Given the description of an element on the screen output the (x, y) to click on. 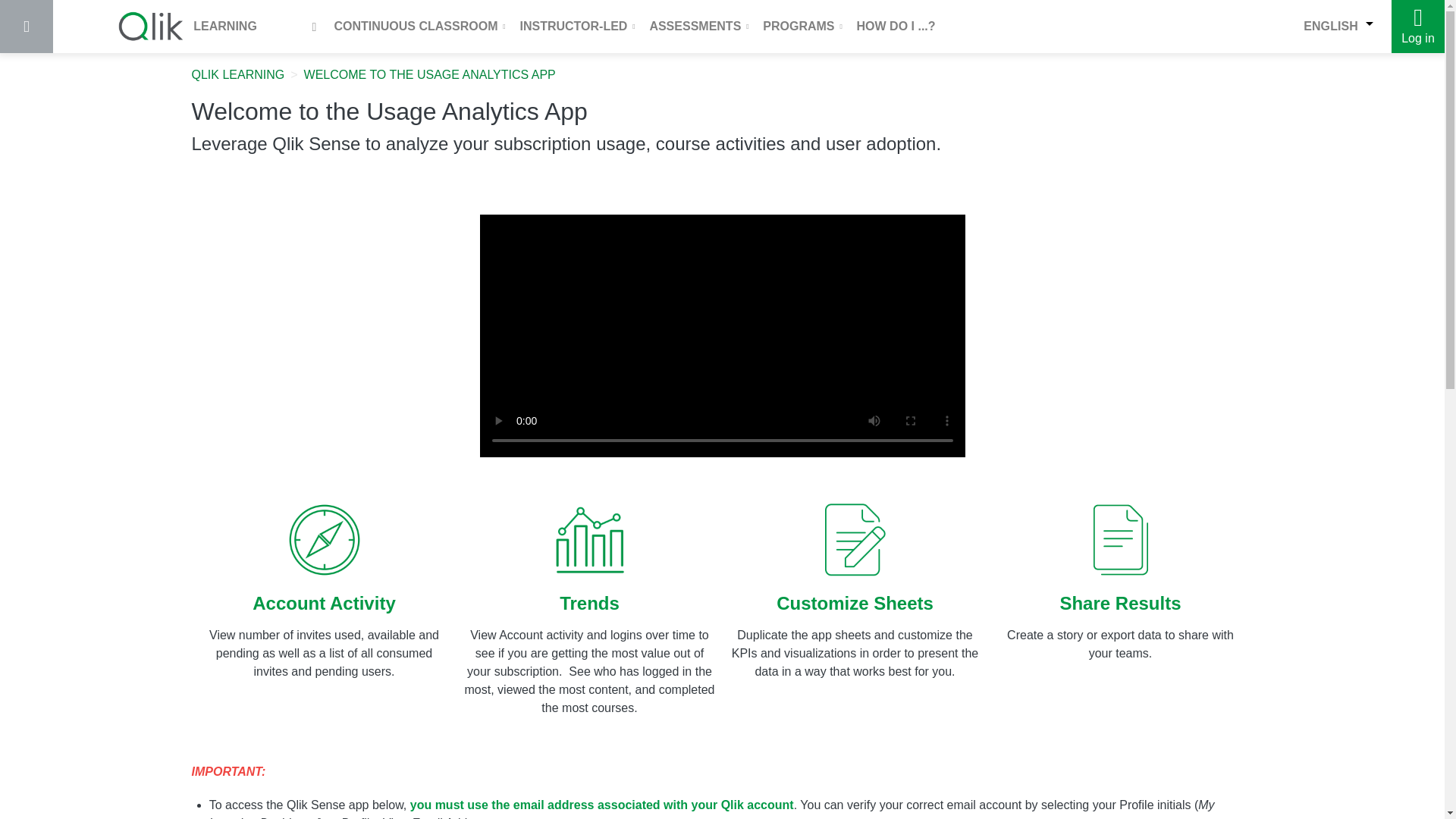
Page (430, 74)
Qlik Learning Portal (236, 74)
LEARNING (186, 26)
CONTINUOUS CLASSROOM (420, 26)
